Given the description of an element on the screen output the (x, y) to click on. 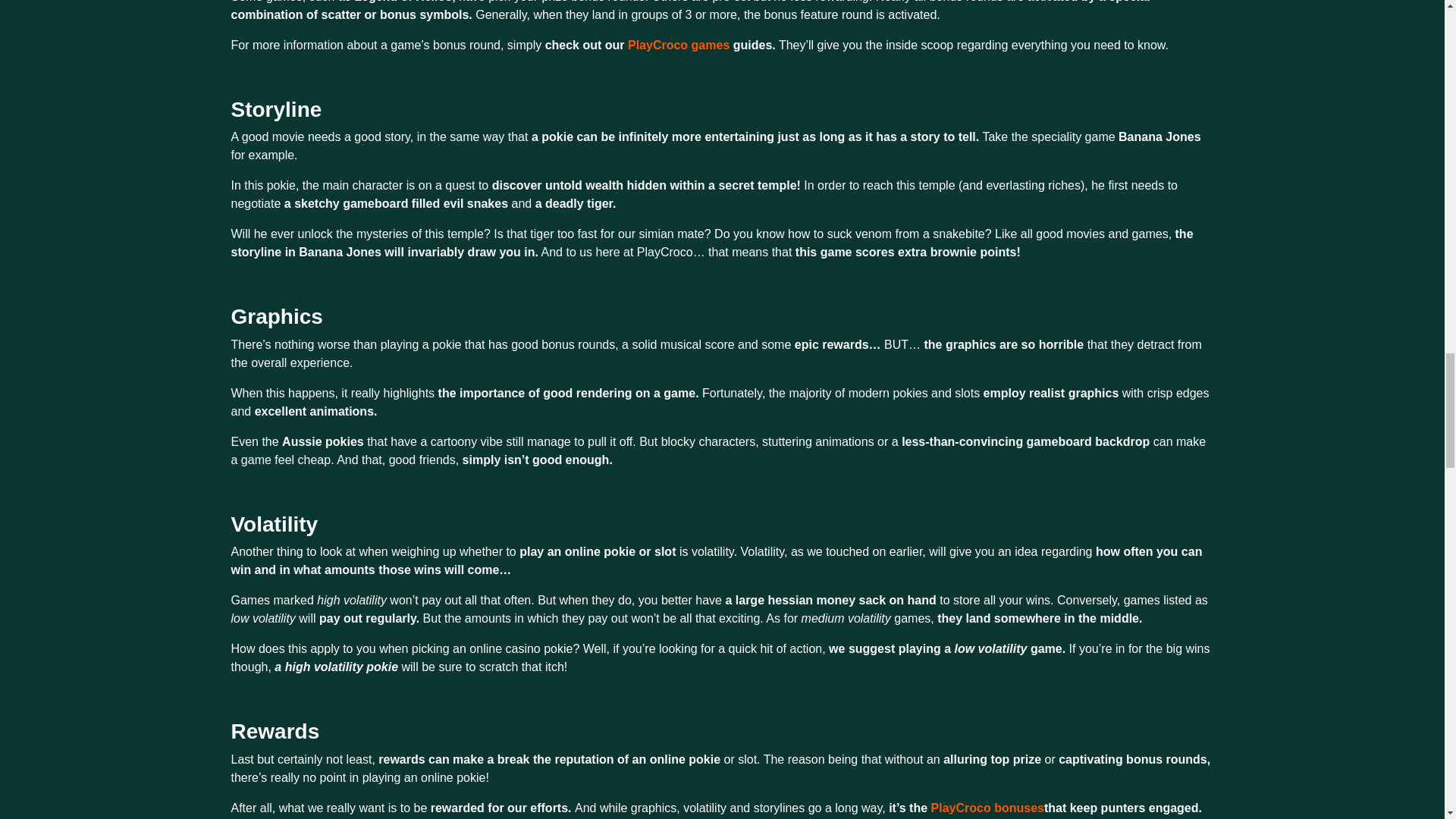
PlayCroco bonuses (987, 807)
playcroco games (678, 44)
PlayCroco bonuses (987, 807)
PlayCroco games (678, 44)
